Given the description of an element on the screen output the (x, y) to click on. 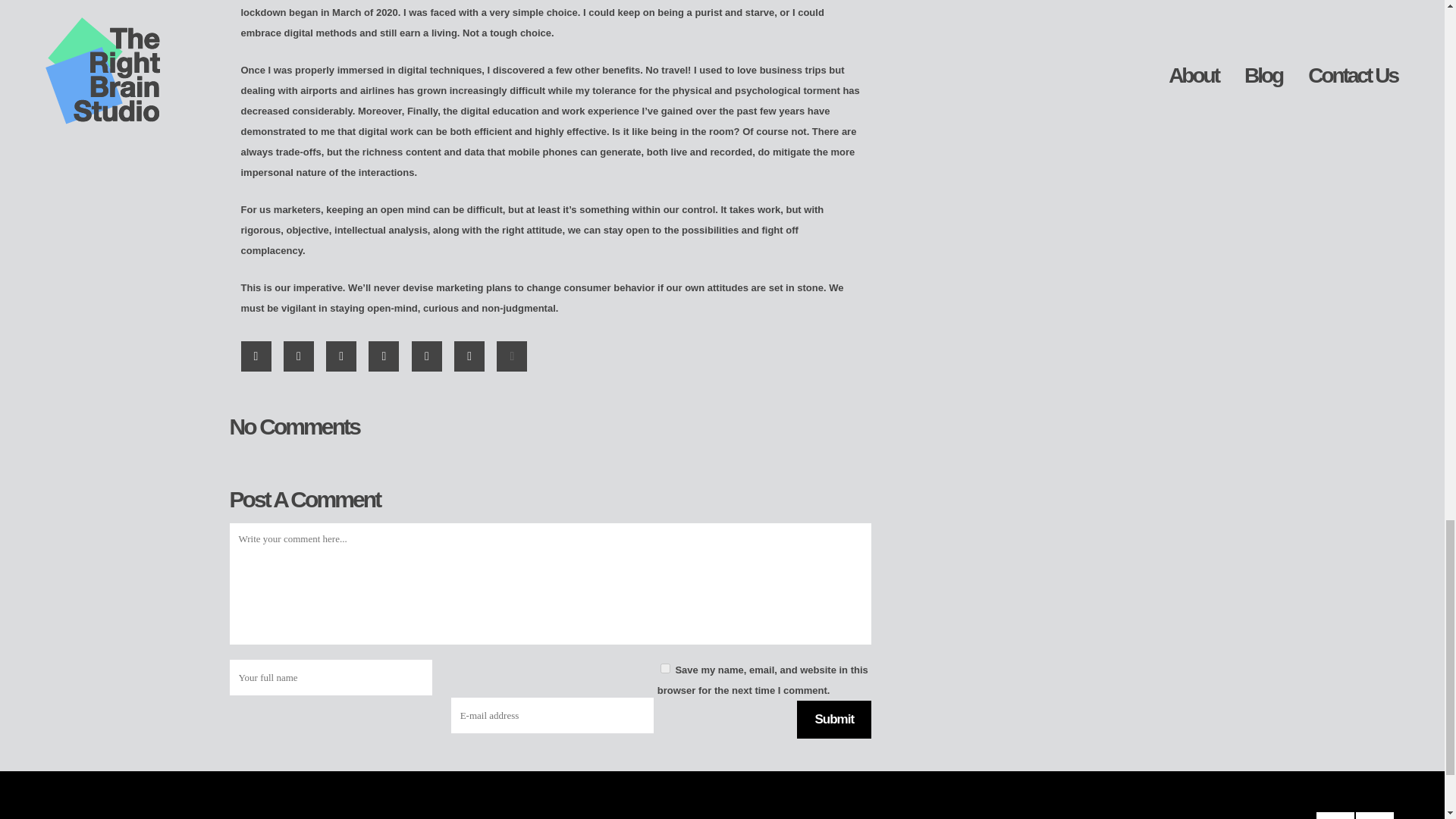
Submit (833, 719)
Submit (833, 719)
yes (665, 668)
